Given the description of an element on the screen output the (x, y) to click on. 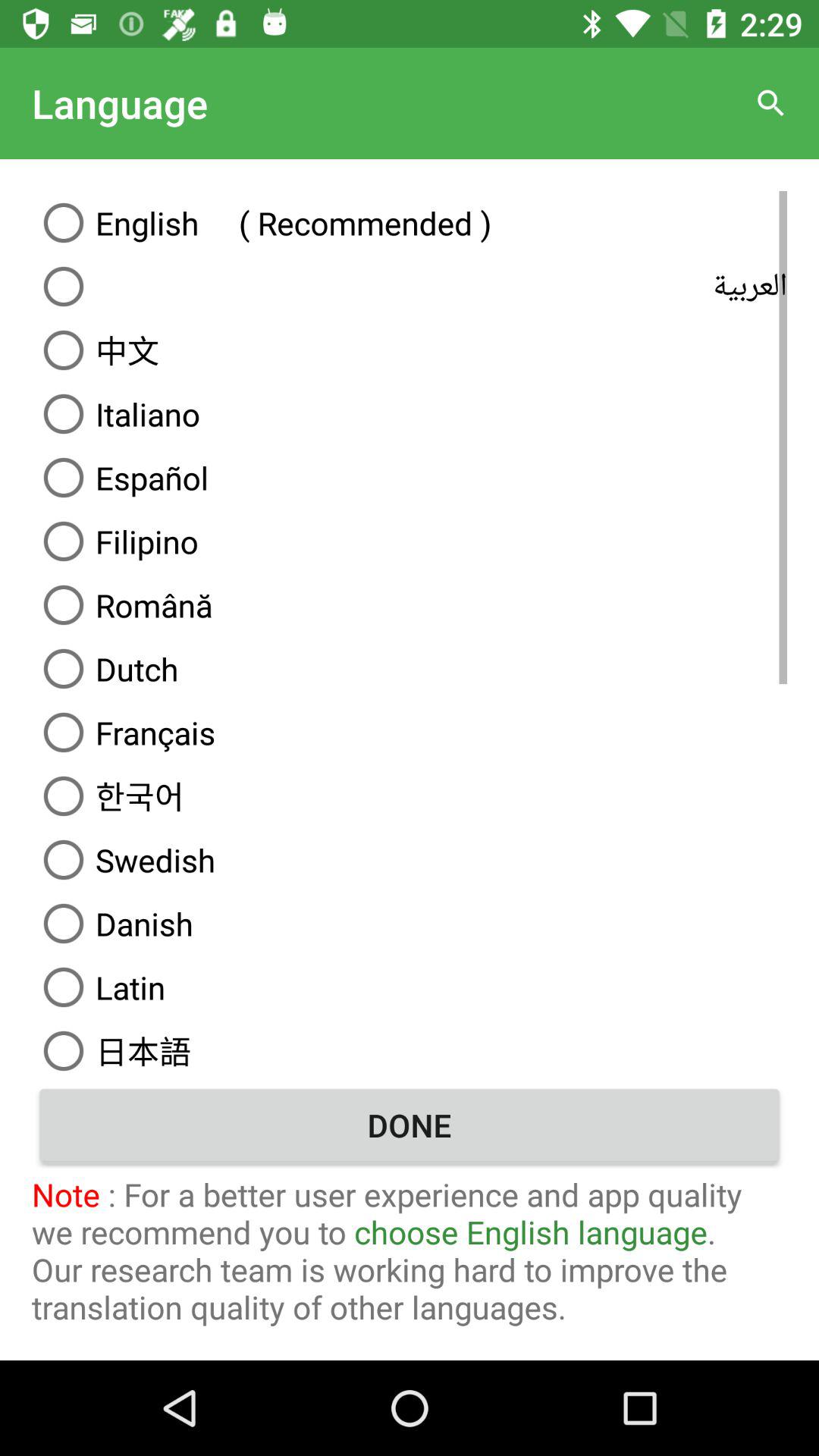
press icon below dutch item (409, 732)
